Given the description of an element on the screen output the (x, y) to click on. 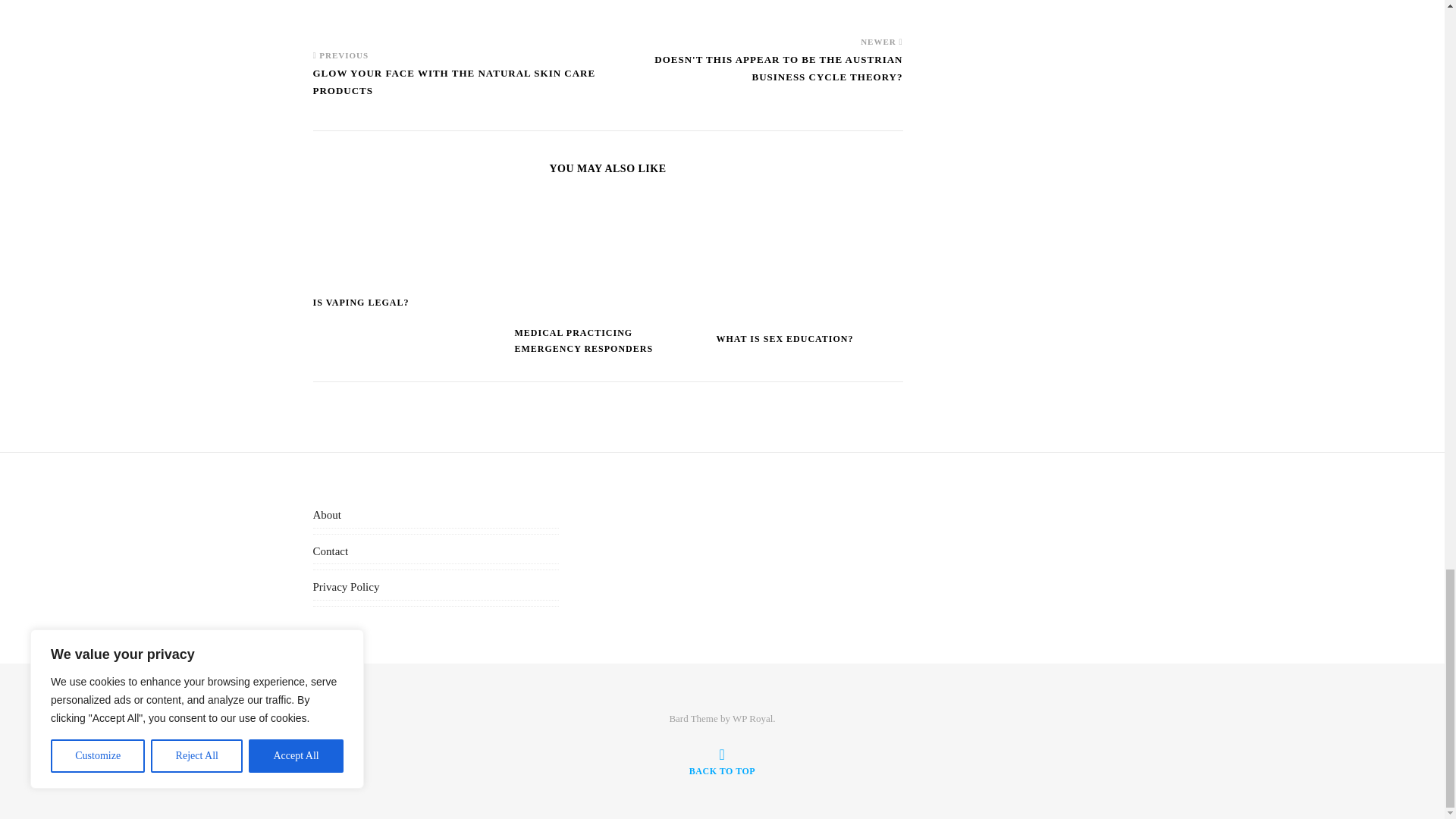
BACK TO TOP (722, 761)
GLOW YOUR FACE WITH THE NATURAL SKIN CARE PRODUCTS (460, 89)
Glow Your Face With The Natural Skin Care Products (341, 18)
Glow Your Face With The Natural Skin Care Products (460, 89)
